Given the description of an element on the screen output the (x, y) to click on. 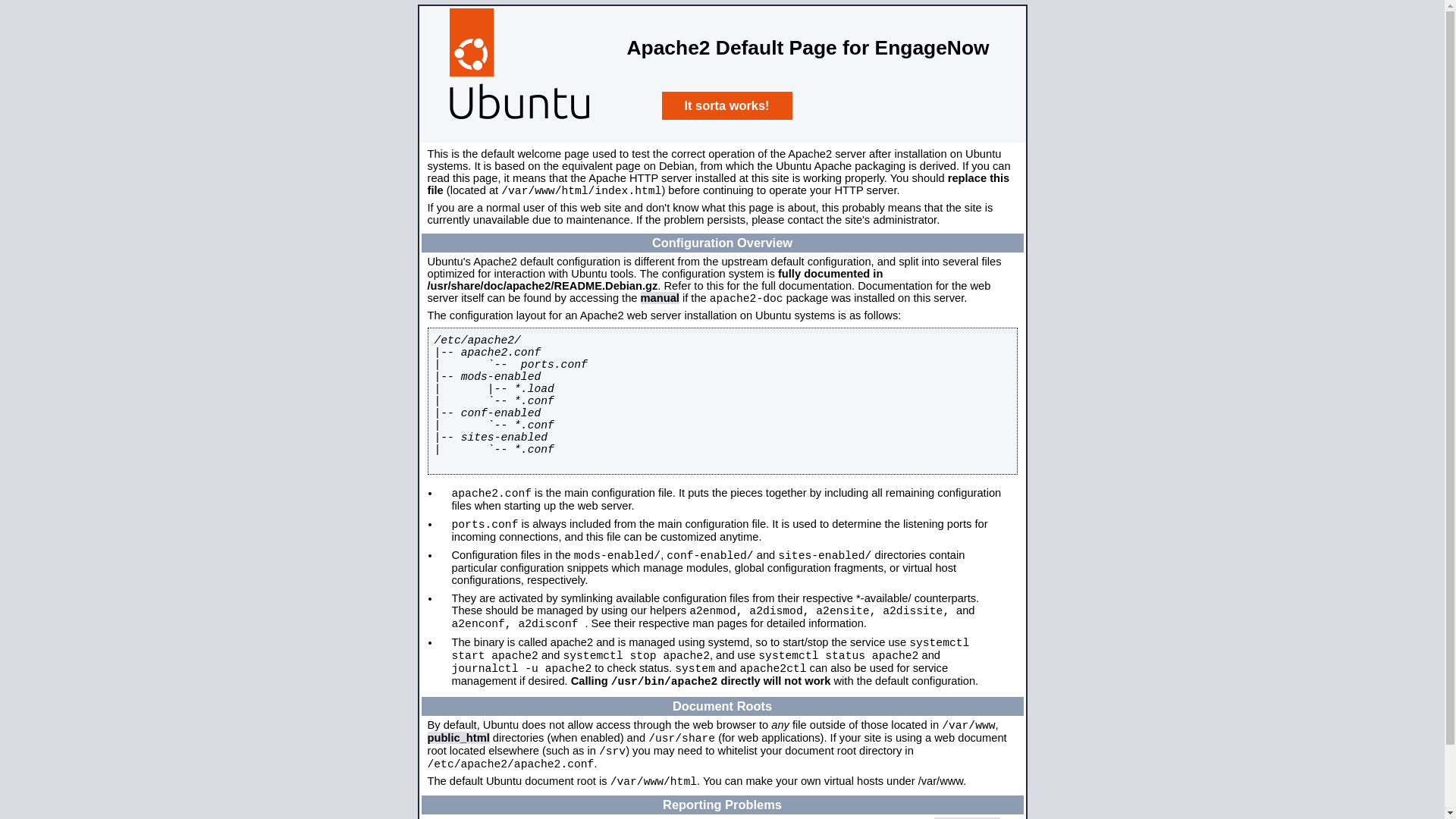
manual Element type: text (659, 297)
public_html Element type: text (458, 737)
